Given the description of an element on the screen output the (x, y) to click on. 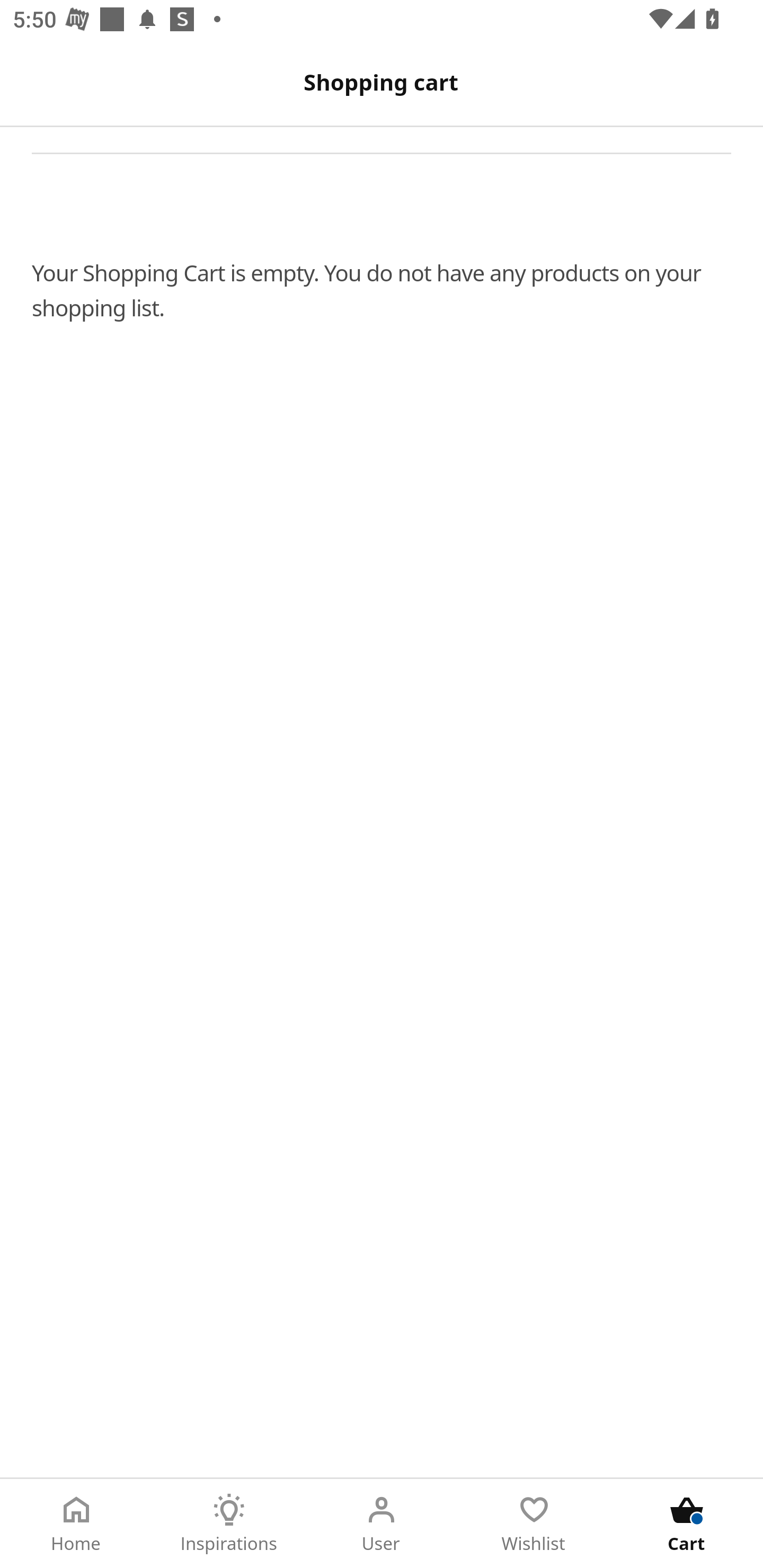
Home
Tab 1 of 5 (76, 1522)
Inspirations
Tab 2 of 5 (228, 1522)
User
Tab 3 of 5 (381, 1522)
Wishlist
Tab 4 of 5 (533, 1522)
Cart
Tab 5 of 5 (686, 1522)
